Given the description of an element on the screen output the (x, y) to click on. 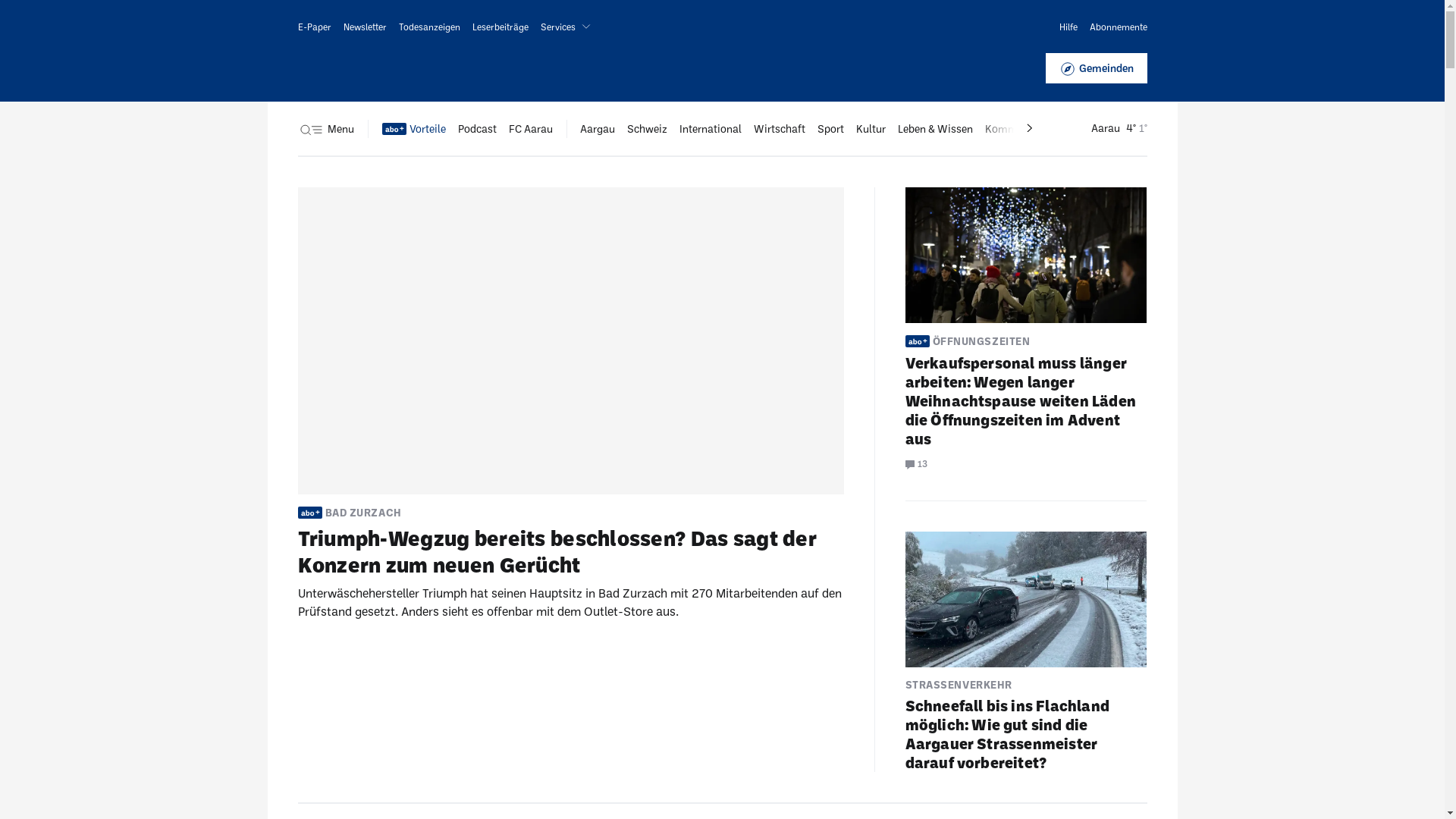
Kommentare Element type: text (1015, 128)
Vorteile Element type: text (413, 128)
Todesanzeigen Element type: text (429, 26)
FC Aarau Element type: text (530, 128)
Gemeinden Element type: text (1095, 68)
Aargau Element type: text (596, 128)
Wirtschaft Element type: text (779, 128)
Menu Element type: text (325, 128)
Newsletter Element type: text (363, 26)
Abonnemente Element type: text (1117, 26)
13 Element type: text (916, 463)
International Element type: text (710, 128)
E-Paper Element type: text (313, 26)
Podcast Element type: text (477, 128)
Schweiz Element type: text (646, 128)
Hilfe Element type: text (1067, 26)
Sport Element type: text (830, 128)
Kultur Element type: text (869, 128)
Leben & Wissen Element type: text (934, 128)
Services Element type: text (567, 26)
